Given the description of an element on the screen output the (x, y) to click on. 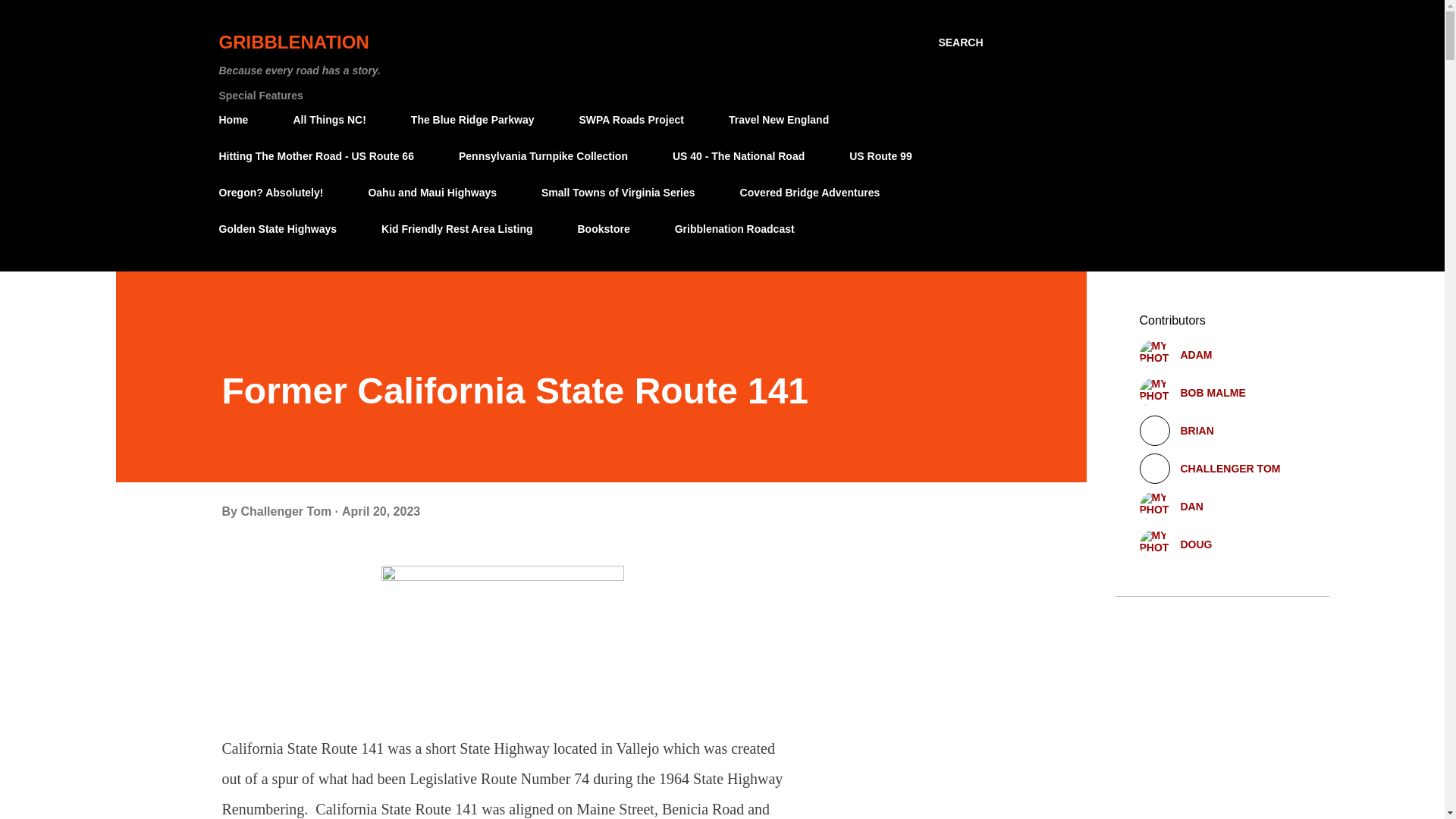
Hitting The Mother Road - US Route 66 (320, 155)
permanent link (381, 511)
Gribblenation Roadcast (734, 228)
SEARCH (959, 42)
Challenger Tom (287, 511)
author profile (287, 511)
All Things NC! (328, 119)
Oahu and Maui Highways (431, 192)
Home (237, 119)
Pennsylvania Turnpike Collection (543, 155)
US 40 - The National Road (738, 155)
Small Towns of Virginia Series (618, 192)
SWPA Roads Project (631, 119)
GRIBBLENATION (293, 41)
Golden State Highways (282, 228)
